Given the description of an element on the screen output the (x, y) to click on. 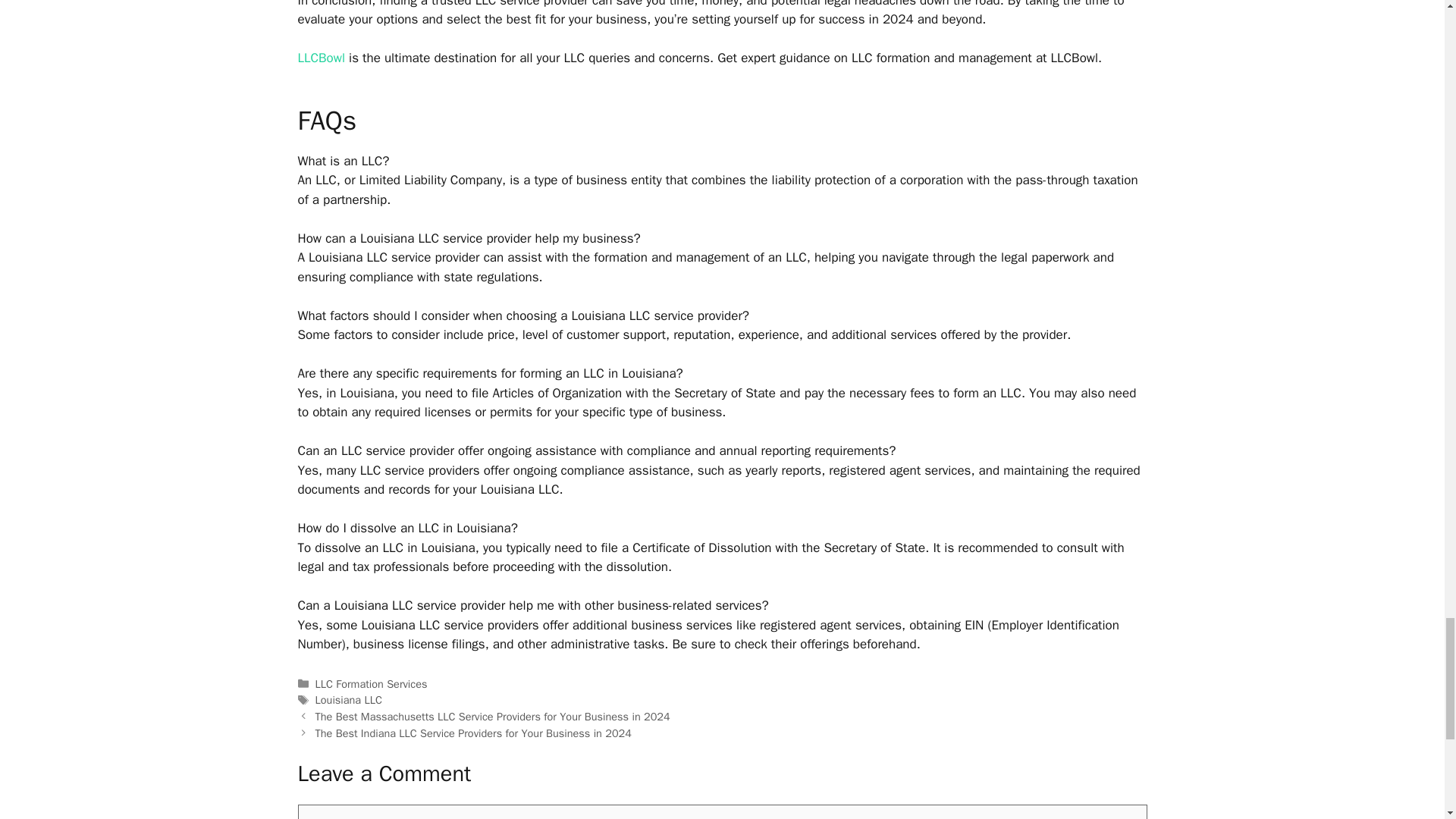
LLC Formation Services (371, 684)
Louisiana LLC (348, 699)
LLCBowl (321, 57)
